Given the description of an element on the screen output the (x, y) to click on. 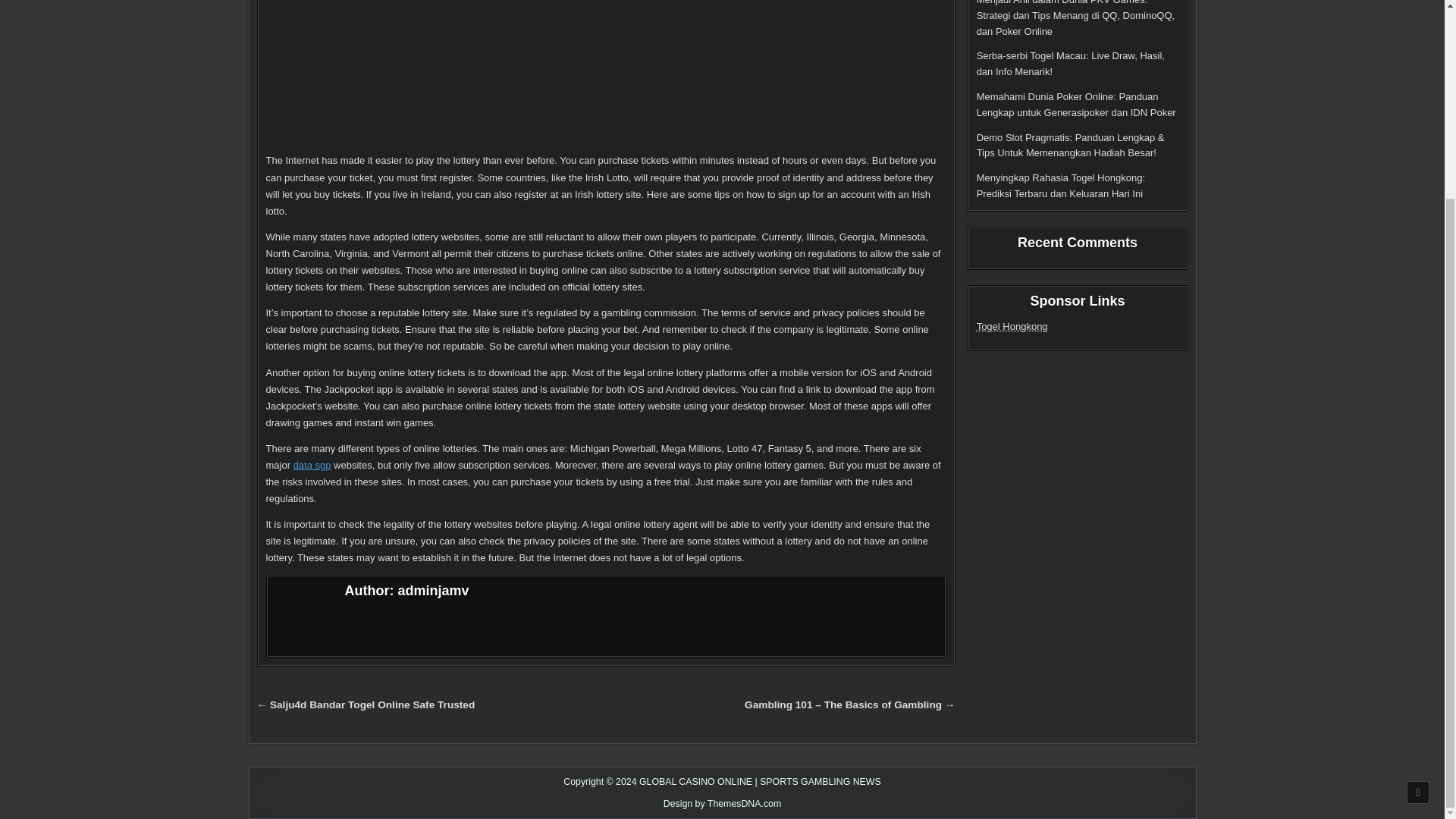
Scroll to Top (1417, 540)
adminjamv (432, 590)
Togel Hongkong (1012, 326)
SCROLL TO TOP (1417, 540)
data sgp (312, 464)
Serba-serbi Togel Macau: Live Draw, Hasil, dan Info Menarik! (1070, 62)
Design by ThemesDNA.com (722, 803)
SCROLL TO TOP (1417, 540)
